Given the description of an element on the screen output the (x, y) to click on. 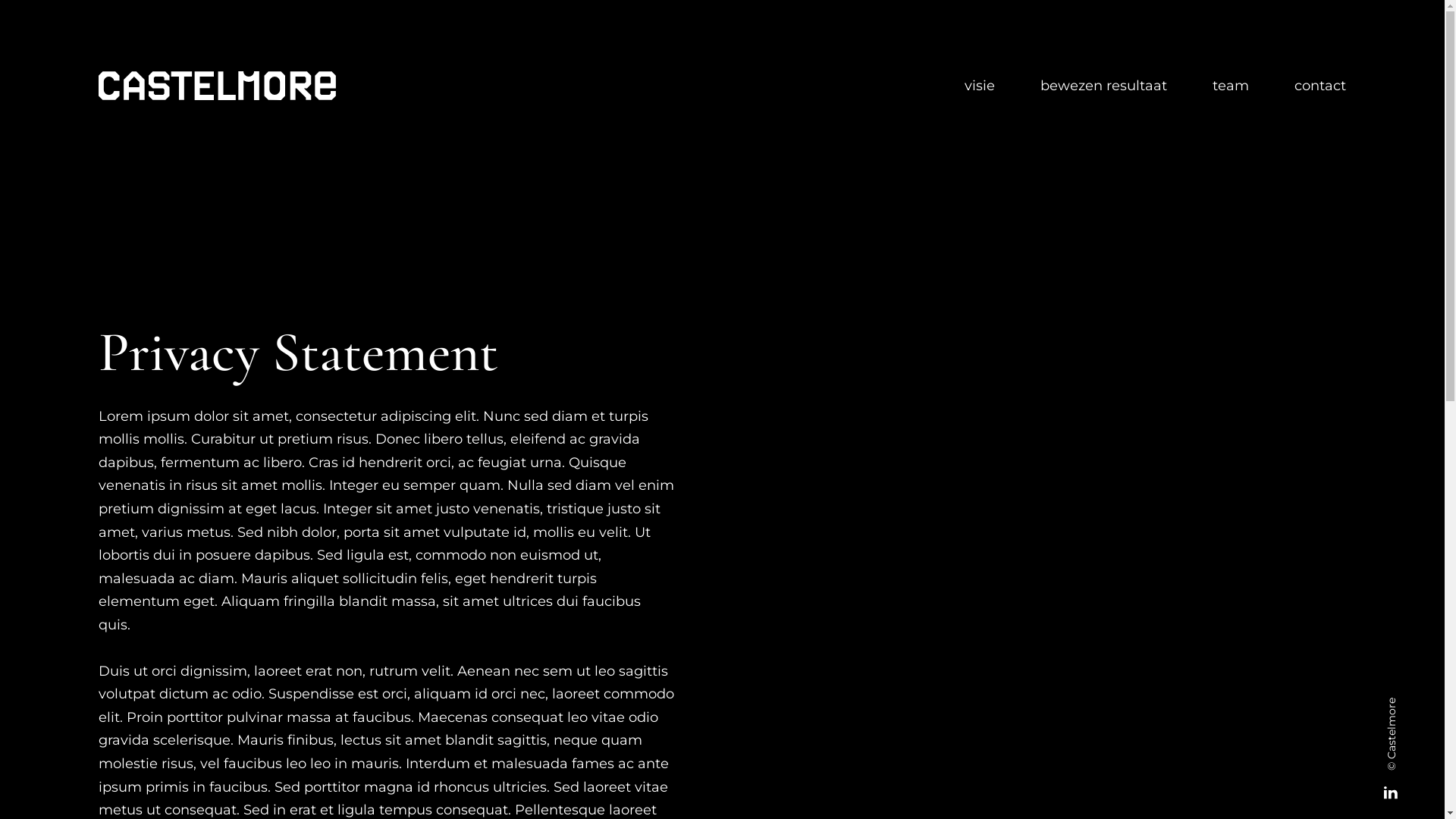
team Element type: text (1230, 85)
visie Element type: text (979, 85)
contact Element type: text (1320, 85)
bewezen resultaat Element type: text (1103, 85)
